Given the description of an element on the screen output the (x, y) to click on. 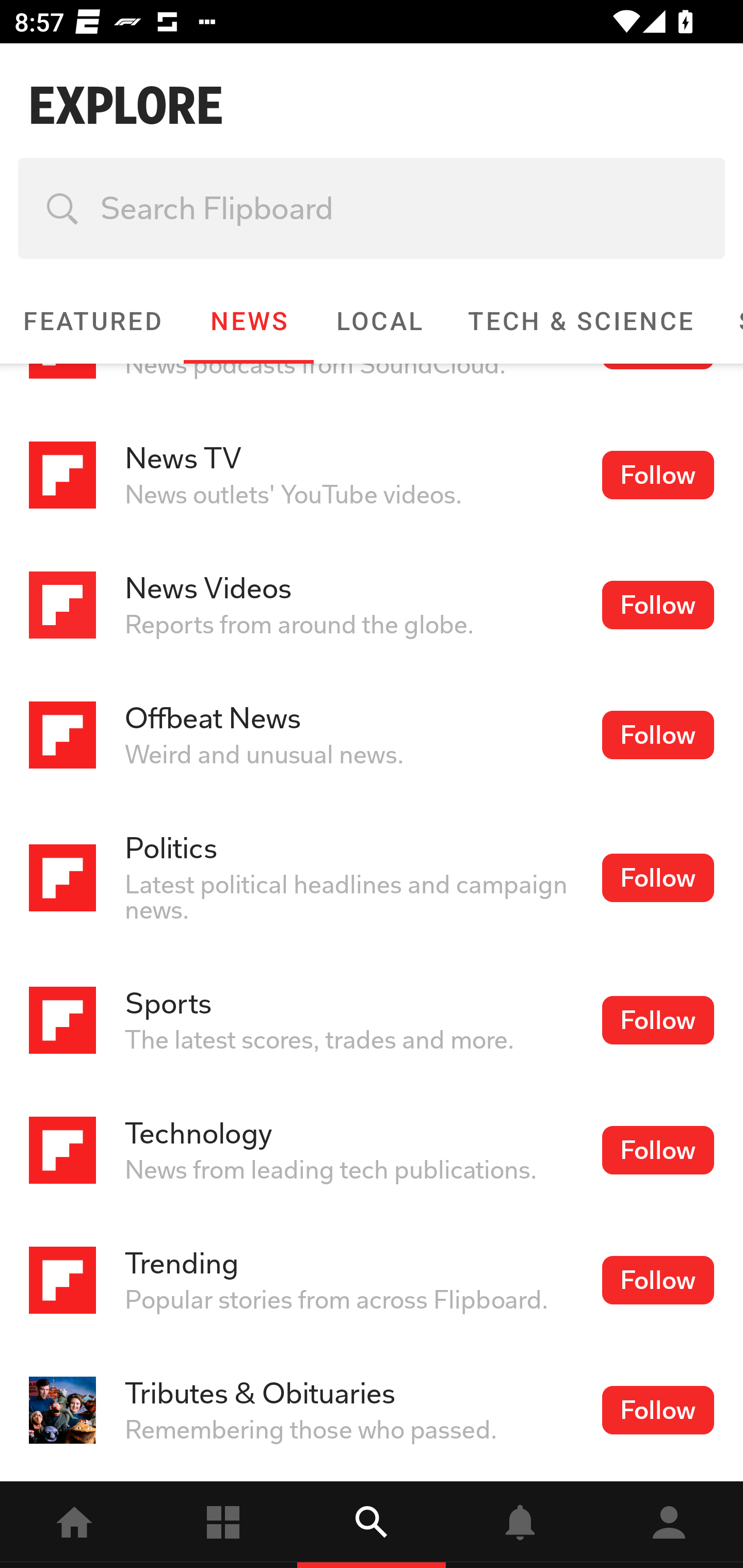
Search Flipboard (371, 208)
Featured FEATURED (91, 320)
Local LOCAL (379, 320)
Tech & Science TECH & SCIENCE (580, 320)
News TV News outlets' YouTube videos. Follow (371, 475)
Follow (657, 474)
News Videos Reports from around the globe. Follow (371, 605)
Follow (657, 604)
Offbeat News Weird and unusual news. Follow (371, 735)
Follow (657, 734)
Follow (657, 876)
Sports The latest scores, trades and more. Follow (371, 1019)
Follow (657, 1019)
Follow (657, 1149)
Follow (657, 1279)
Follow (657, 1410)
home (74, 1524)
Following (222, 1524)
explore (371, 1524)
Notifications (519, 1524)
Profile (668, 1524)
